Given the description of an element on the screen output the (x, y) to click on. 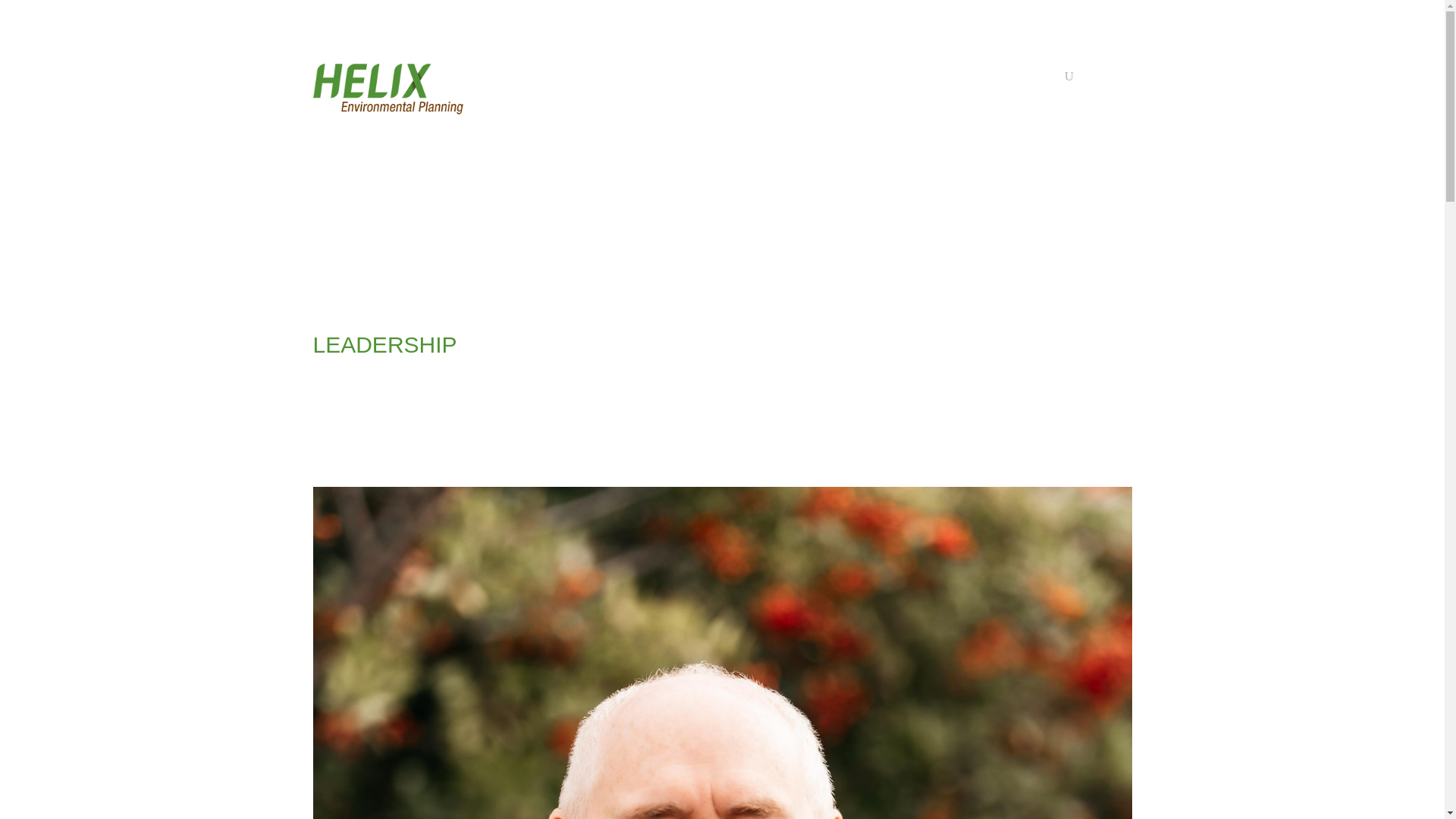
Follow on Facebook (942, 169)
PROJECTS (859, 79)
Follow on Youtube (990, 169)
SERVICES (697, 79)
HOME (544, 79)
ABOUT US (611, 79)
Follow on LinkedIn (917, 169)
SECTORS (780, 79)
Follow on Instagram (966, 169)
